Given the description of an element on the screen output the (x, y) to click on. 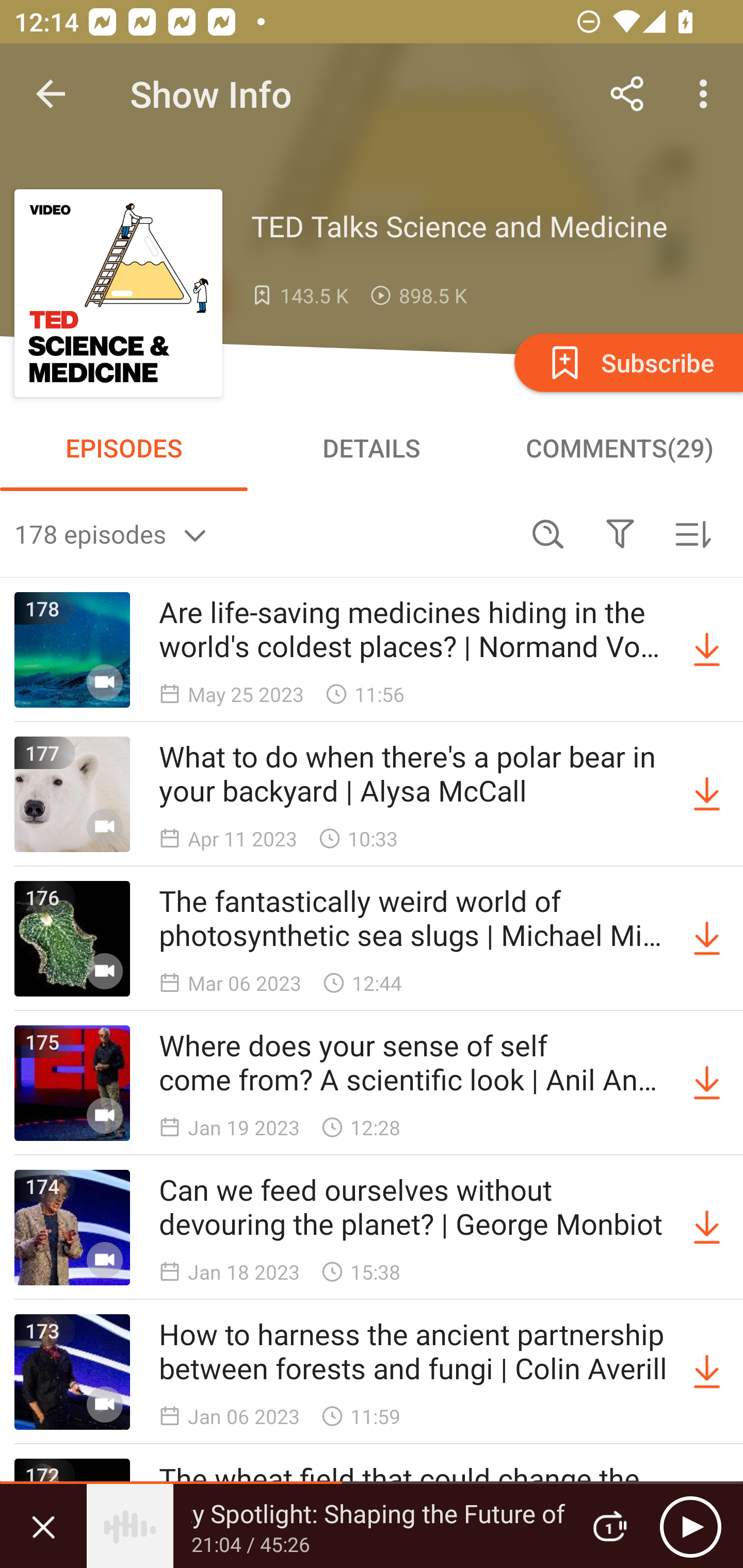
Navigate up (50, 93)
Share (626, 93)
More options (706, 93)
Subscribe (627, 361)
EPISODES (123, 447)
DETAILS (371, 447)
COMMENTS(29) (619, 447)
178 episodes  (262, 533)
 Search (547, 533)
 (619, 533)
 Sorted by newest first (692, 533)
Download (706, 649)
Download (706, 793)
Download (706, 939)
Download (706, 1083)
Download (706, 1227)
Download (706, 1371)
Play (690, 1526)
